Given the description of an element on the screen output the (x, y) to click on. 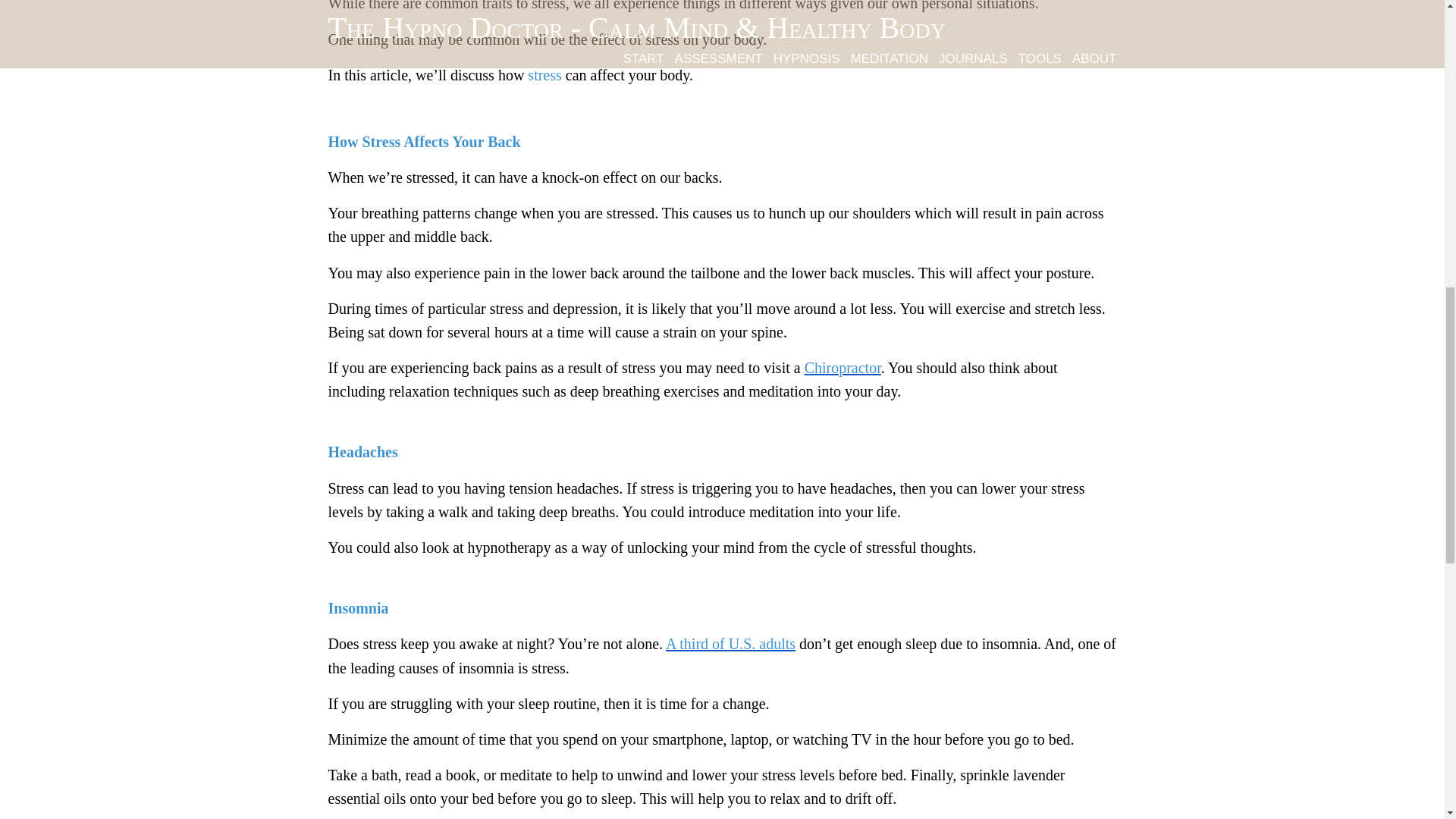
stress (543, 74)
A third of U.S. adults (729, 643)
Chiropractor (842, 367)
